Given the description of an element on the screen output the (x, y) to click on. 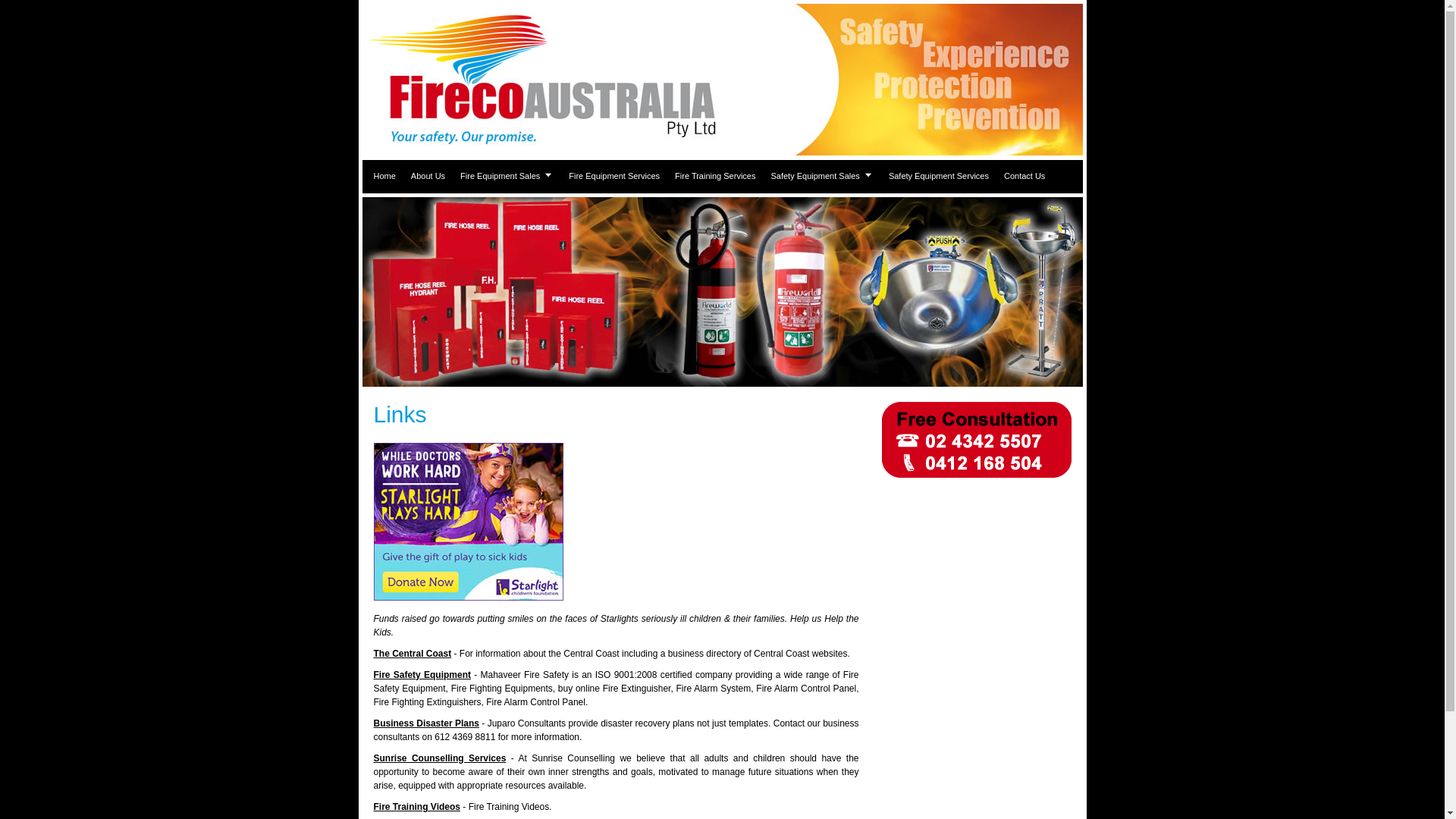
Business Disaster Plans Element type: text (425, 723)
Fire Safety Equipment Element type: text (421, 674)
Safety Equipment Services Element type: text (938, 175)
Fire Equipment Services Element type: text (613, 175)
Home Element type: text (384, 175)
About Us Element type: text (427, 175)
Fire Training Services Element type: text (715, 175)
Fire Equipment Sales Element type: text (506, 175)
Safety Equipment Sales Element type: text (821, 175)
The Central Coast Element type: text (412, 653)
Sunrise Counselling Services Element type: text (439, 758)
Fire Training Videos Element type: text (416, 806)
Contact Us Element type: text (1024, 175)
